Given the description of an element on the screen output the (x, y) to click on. 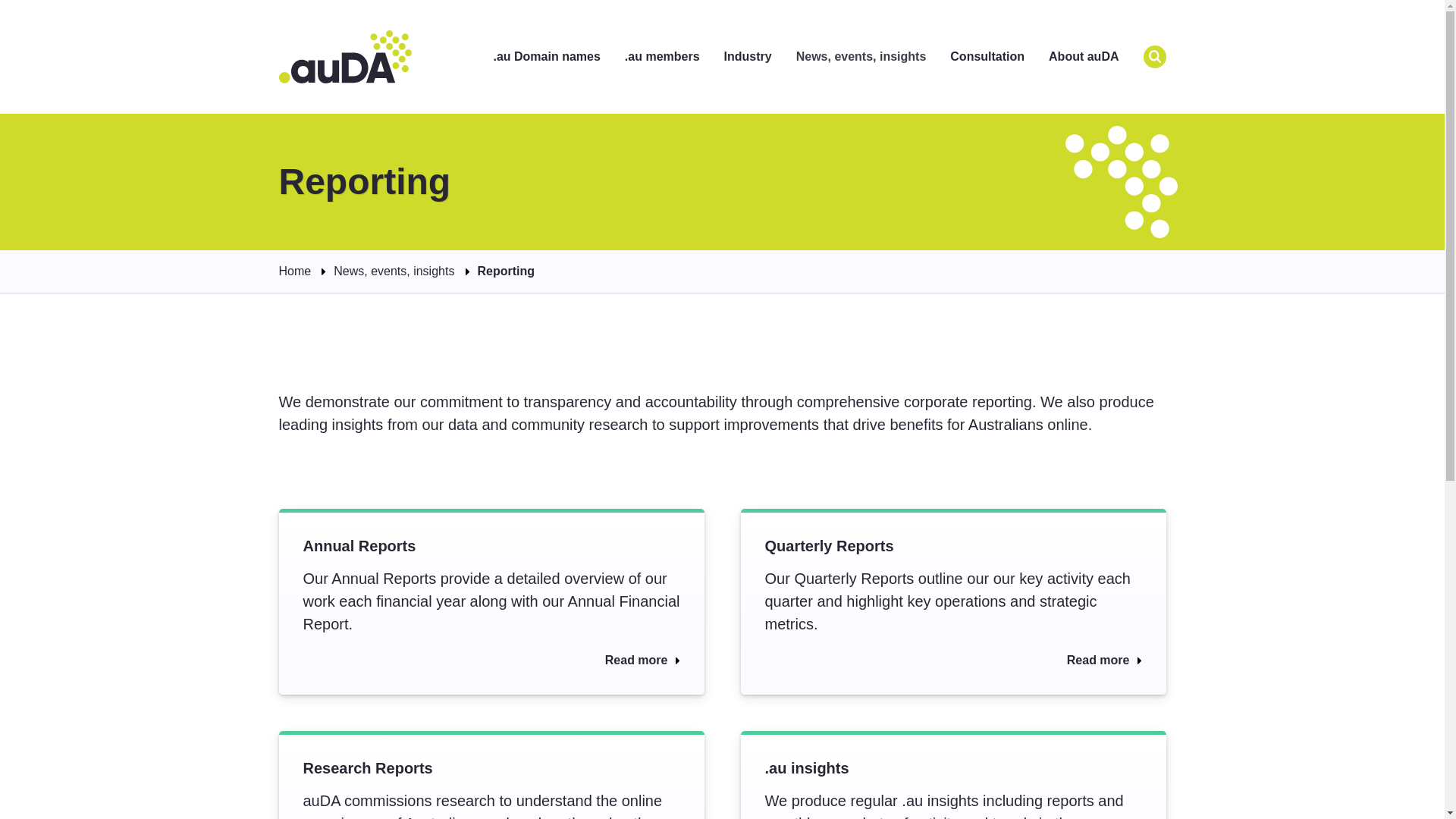
Apply (1154, 56)
.au Domain names (545, 56)
Home (345, 56)
